Given the description of an element on the screen output the (x, y) to click on. 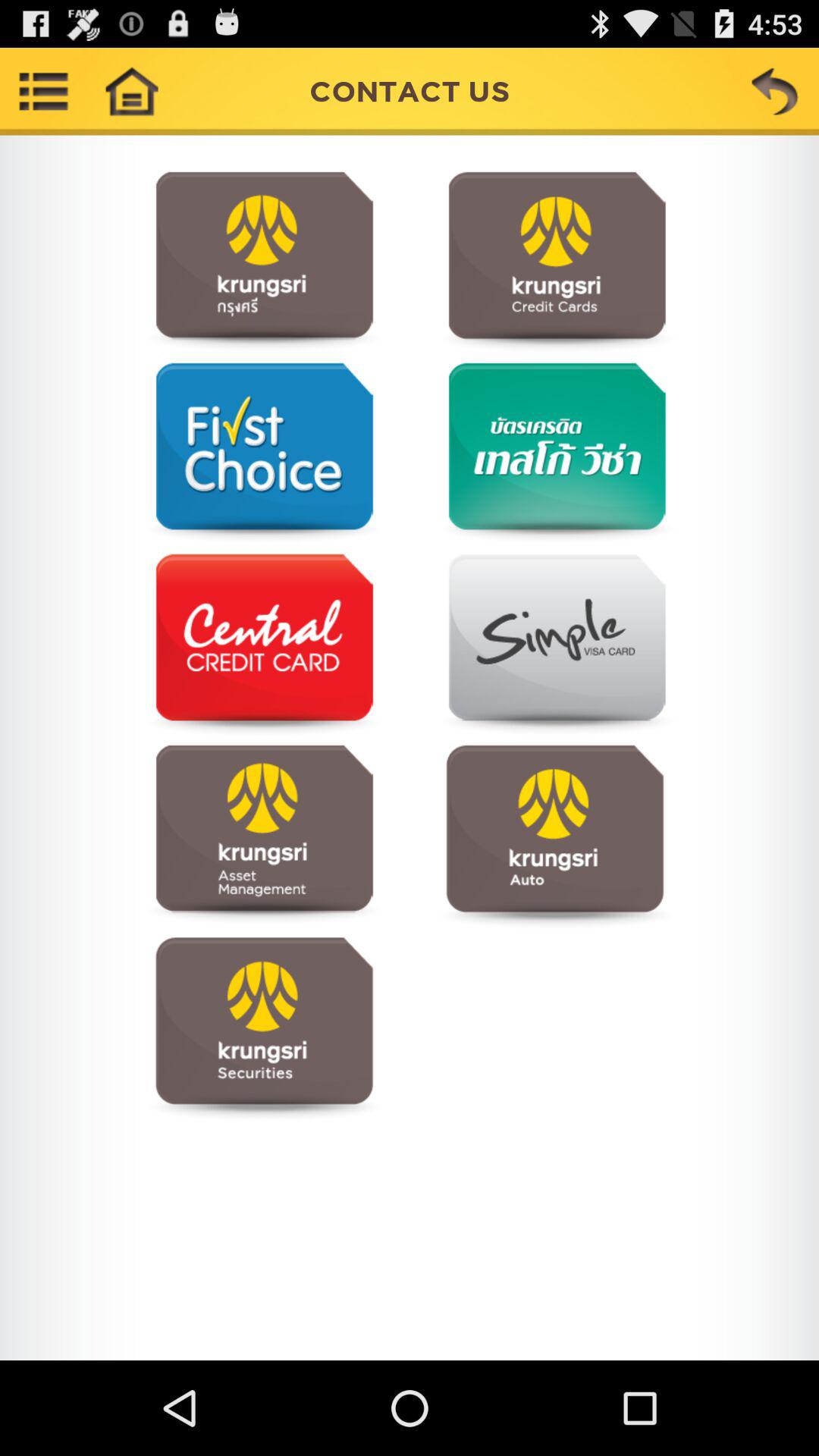
turn on the icon below the contact us item (263, 262)
